Given the description of an element on the screen output the (x, y) to click on. 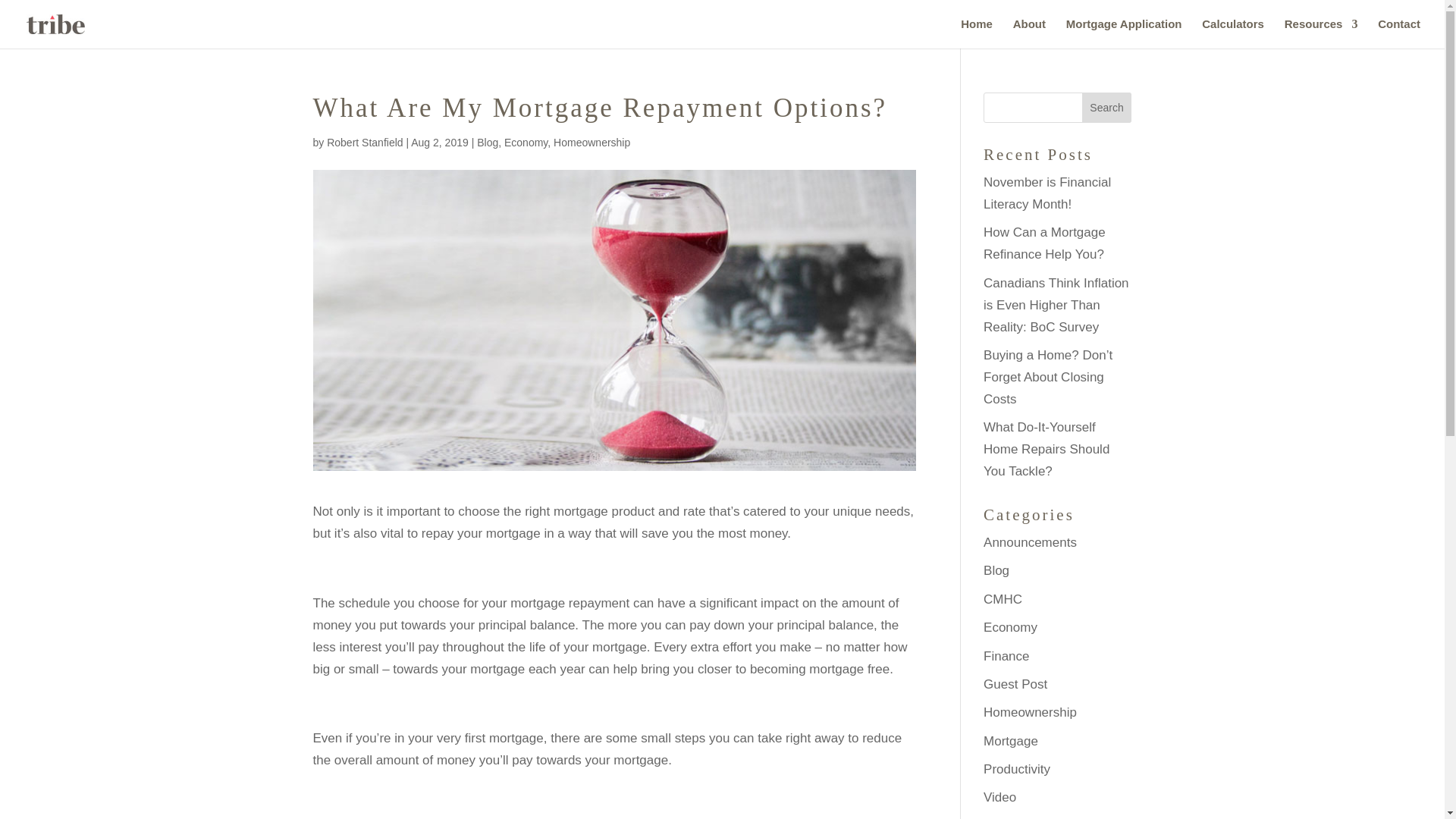
Mortgage (1011, 740)
Homeownership (591, 142)
Posts by Robert Stanfield (364, 142)
Guest Post (1015, 684)
Robert Stanfield (364, 142)
Mortgage Application (1123, 33)
Blog (487, 142)
Search (1106, 107)
Economy (1010, 626)
Resources (1321, 33)
Economy (525, 142)
How Can a Mortgage Refinance Help You? (1044, 243)
Search (1106, 107)
Announcements (1030, 542)
